Given the description of an element on the screen output the (x, y) to click on. 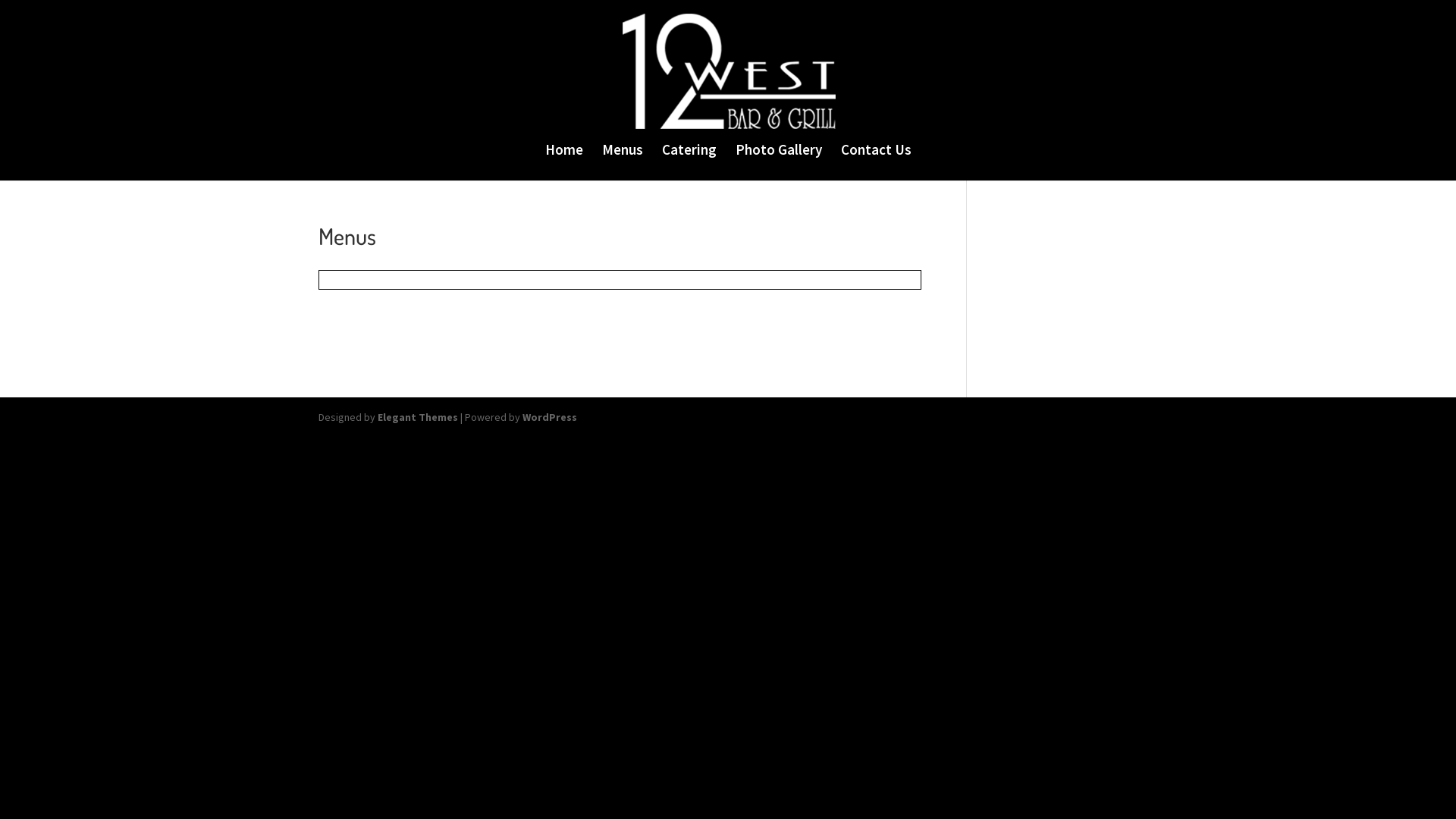
Menus Element type: text (622, 162)
Lunch Menu (1) Element type: text (351, 334)
Contact Us Element type: text (875, 162)
One Sheet Menu - 11-10-23-2 Element type: text (382, 297)
Elegant Themes Element type: text (417, 416)
Home Element type: text (563, 162)
Catering Element type: text (688, 162)
WordPress Element type: text (549, 416)
Bar Fare Element type: text (337, 351)
Photo Gallery Element type: text (778, 162)
Brunch - 4-28-23 Element type: text (353, 316)
